Given the description of an element on the screen output the (x, y) to click on. 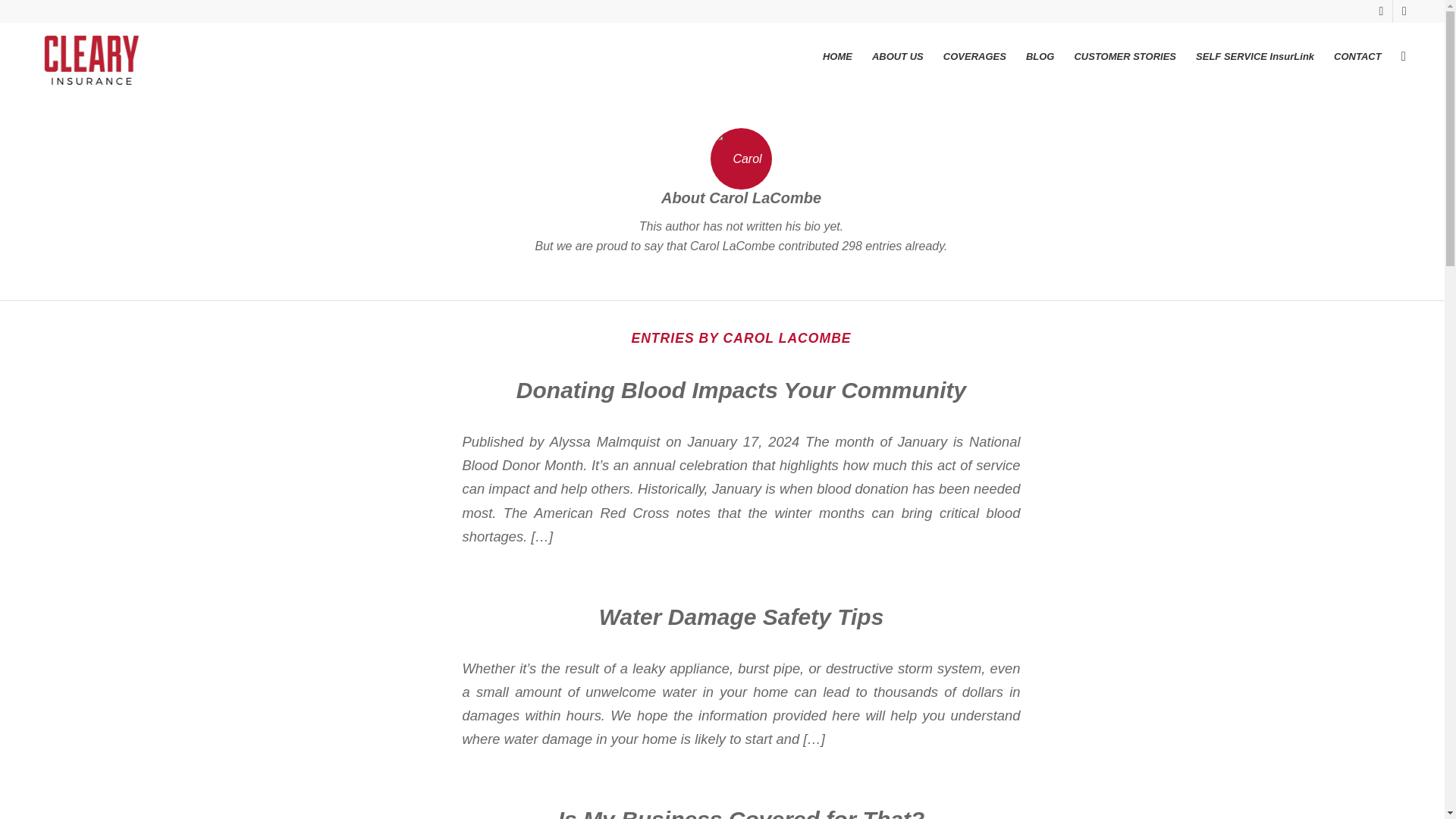
ABOUT US (897, 56)
Permanent Link: Donating Blood Impacts Your Community (741, 389)
CUSTOMER STORIES (1125, 56)
Donating Blood Impacts Your Community (741, 389)
Permanent Link: Is My Business Covered for That? (740, 812)
Water Damage Safety Tips (740, 616)
COVERAGES (974, 56)
Is My Business Covered for That? (740, 812)
SELF SERVICE InsurLink (1254, 56)
CONTACT (1357, 56)
